Given the description of an element on the screen output the (x, y) to click on. 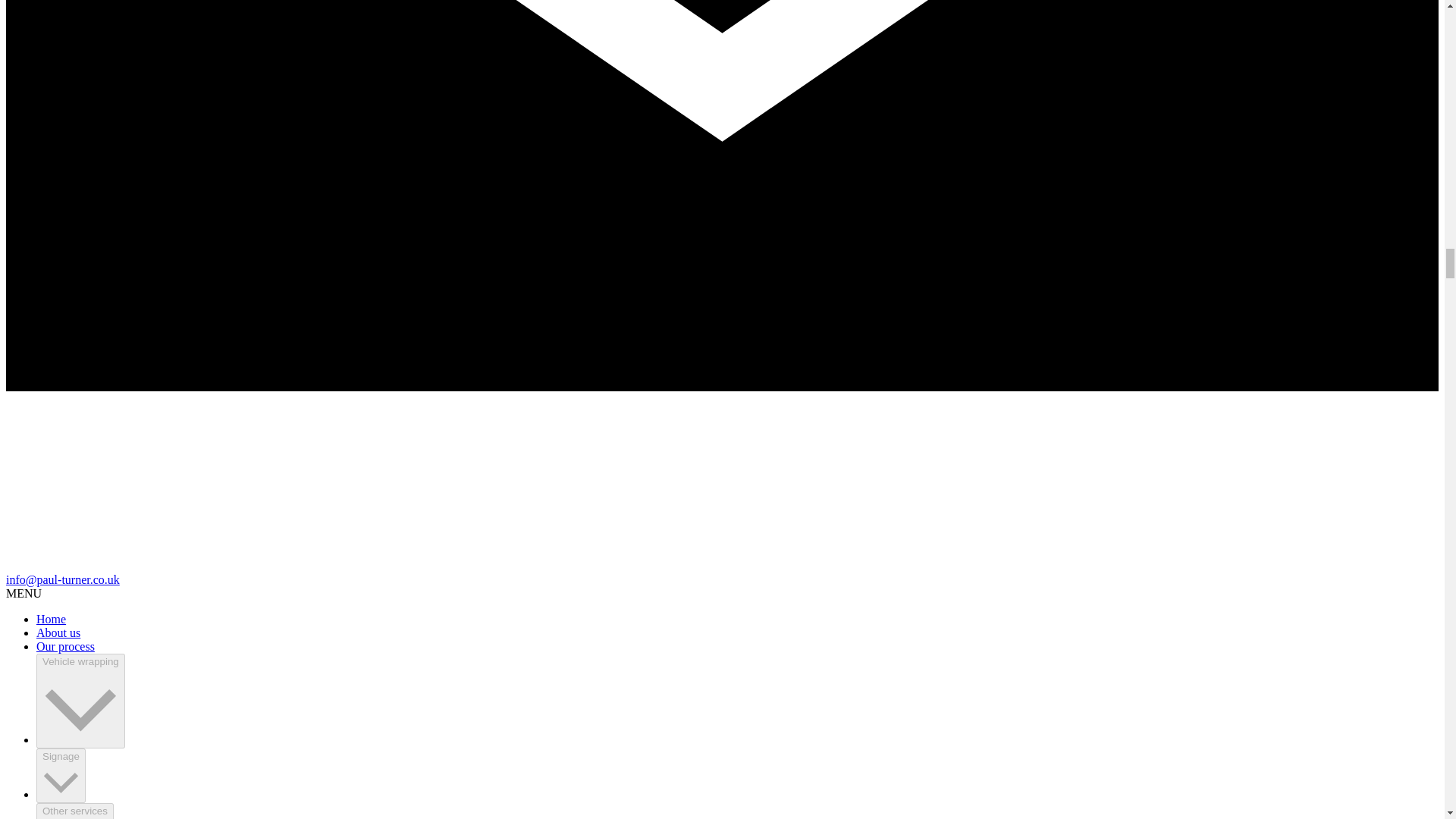
About us (58, 632)
Vehicle wrapping (80, 700)
Home (50, 618)
Signage (60, 775)
Our process (65, 645)
Other services (74, 811)
